Given the description of an element on the screen output the (x, y) to click on. 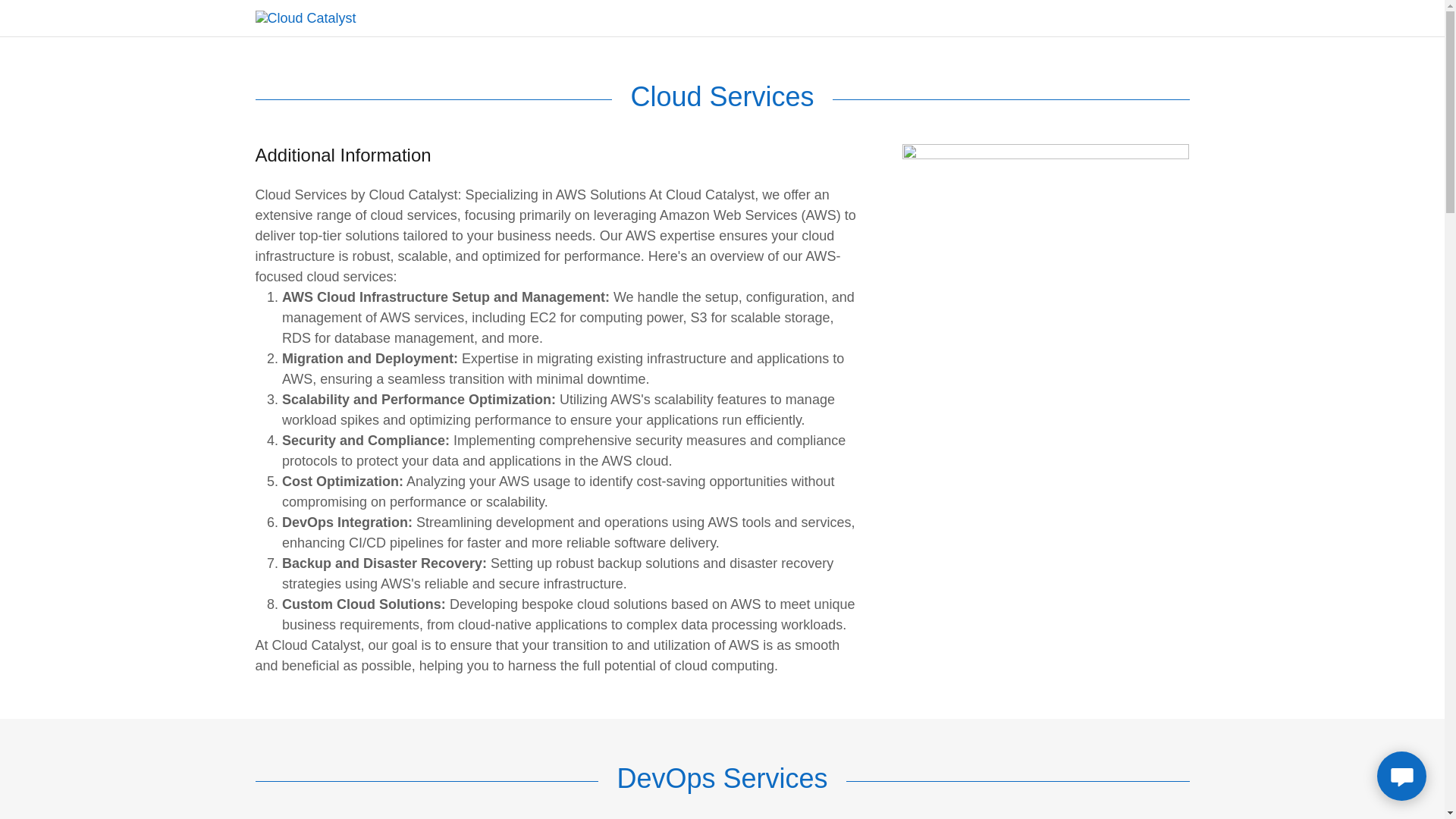
Cloud Catalyst (304, 17)
